Given the description of an element on the screen output the (x, y) to click on. 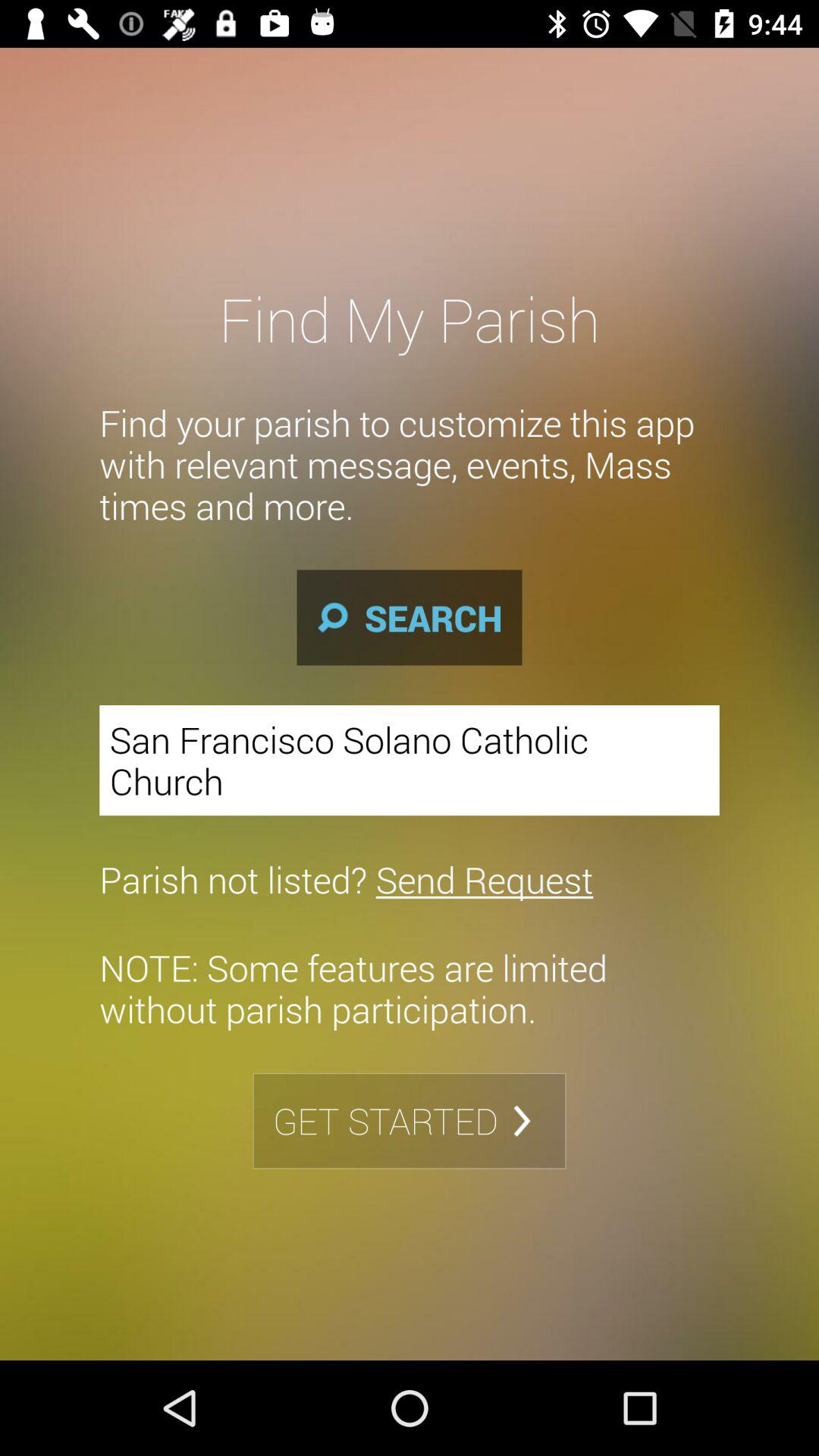
jump until the search icon (409, 617)
